Given the description of an element on the screen output the (x, y) to click on. 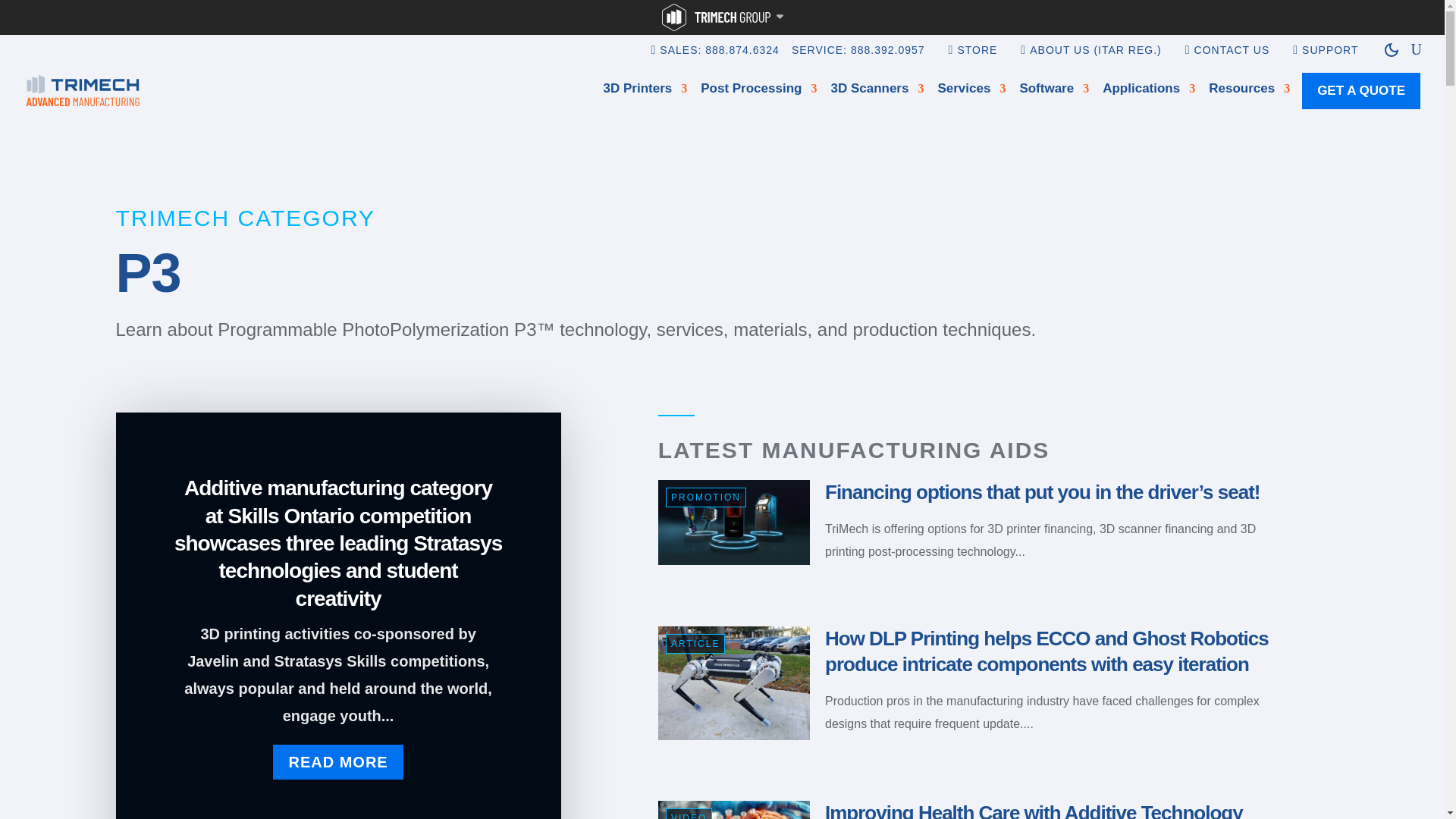
SUPPORT (1329, 60)
CONTACT US (1231, 60)
3D Printers (644, 91)
SERVICE: 888.392.0957 (858, 60)
SALES: 888.874.6324 (718, 60)
STORE (976, 60)
